Given the description of an element on the screen output the (x, y) to click on. 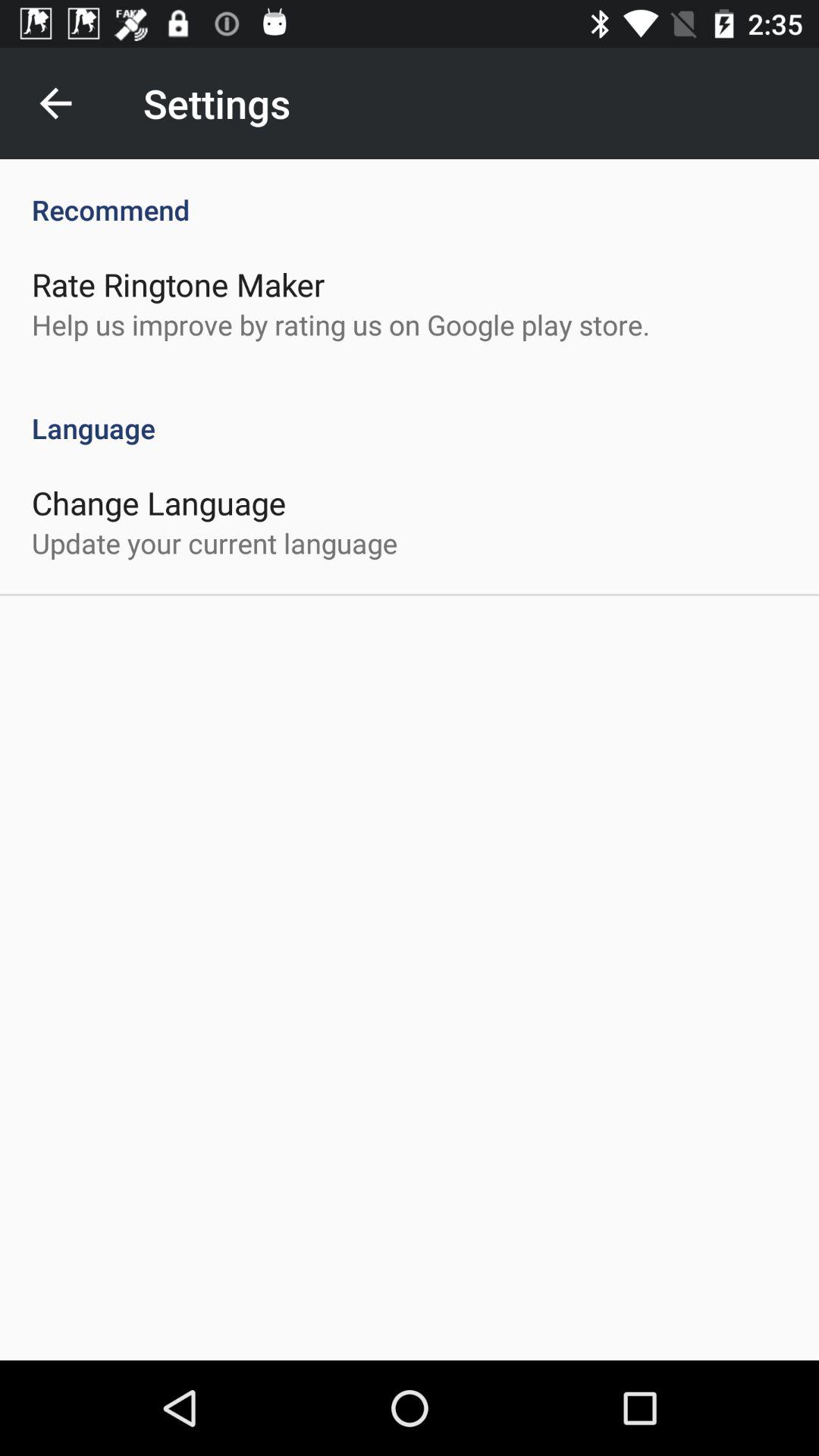
turn off icon above rate ringtone maker icon (409, 193)
